Given the description of an element on the screen output the (x, y) to click on. 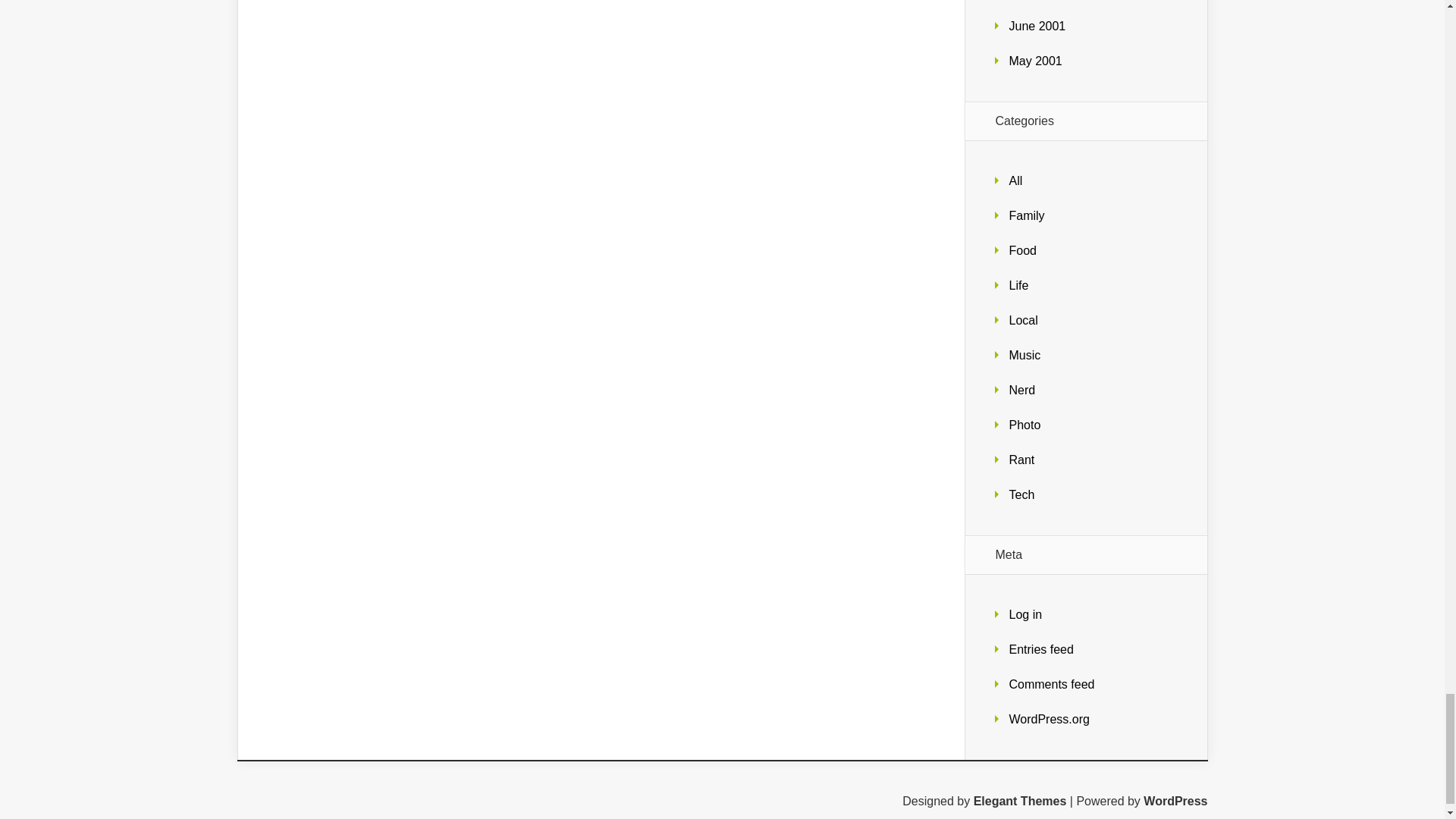
Premium WordPress Themes (1020, 800)
